Given the description of an element on the screen output the (x, y) to click on. 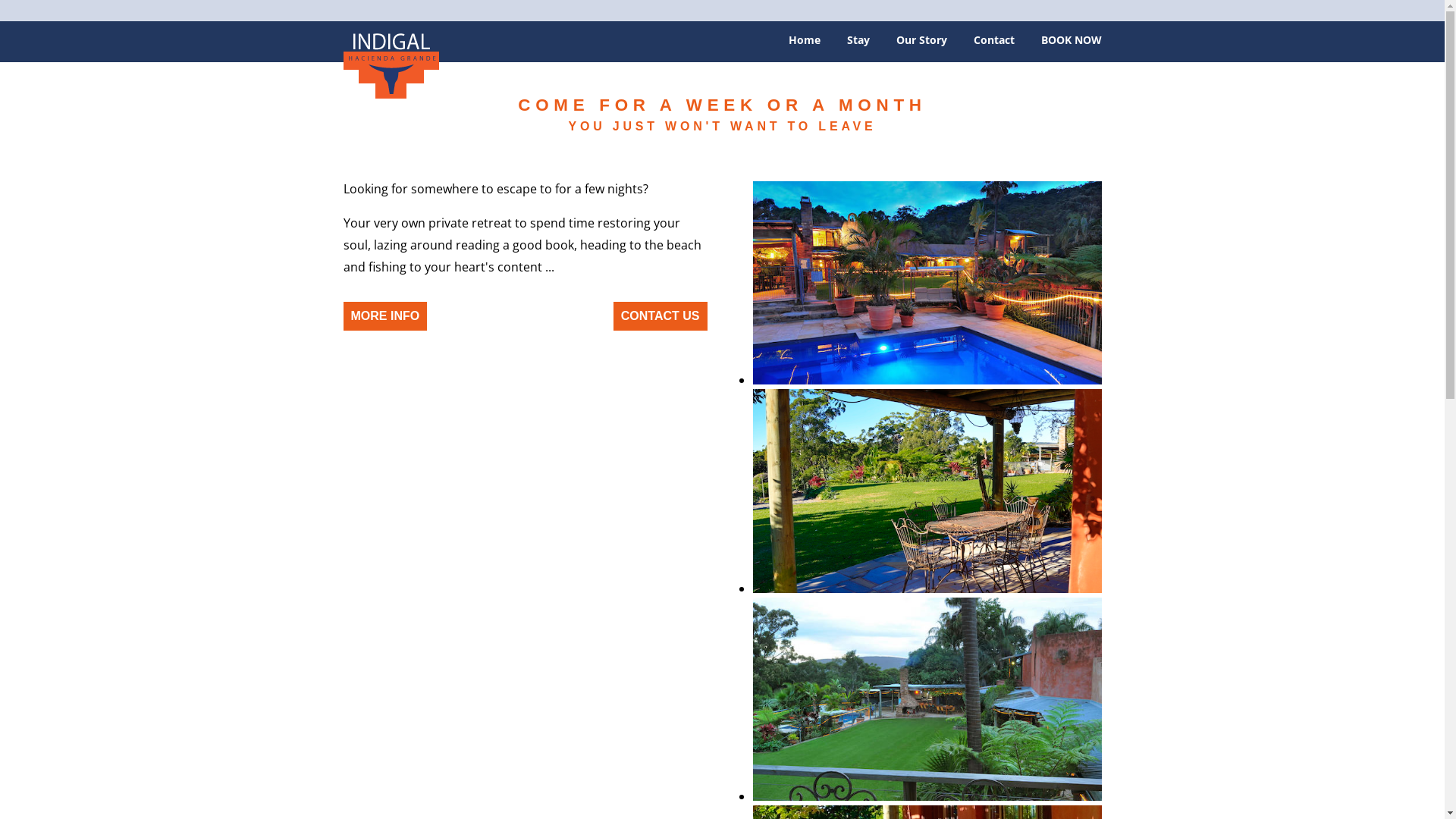
Our Story Element type: text (921, 45)
Contact Us Element type: text (660, 315)
Stay Element type: text (857, 45)
Home Element type: hover (390, 63)
Contact Element type: text (993, 45)
More Info Element type: text (384, 315)
BOOK NOW Element type: text (1070, 45)
Home Element type: text (804, 45)
